Given the description of an element on the screen output the (x, y) to click on. 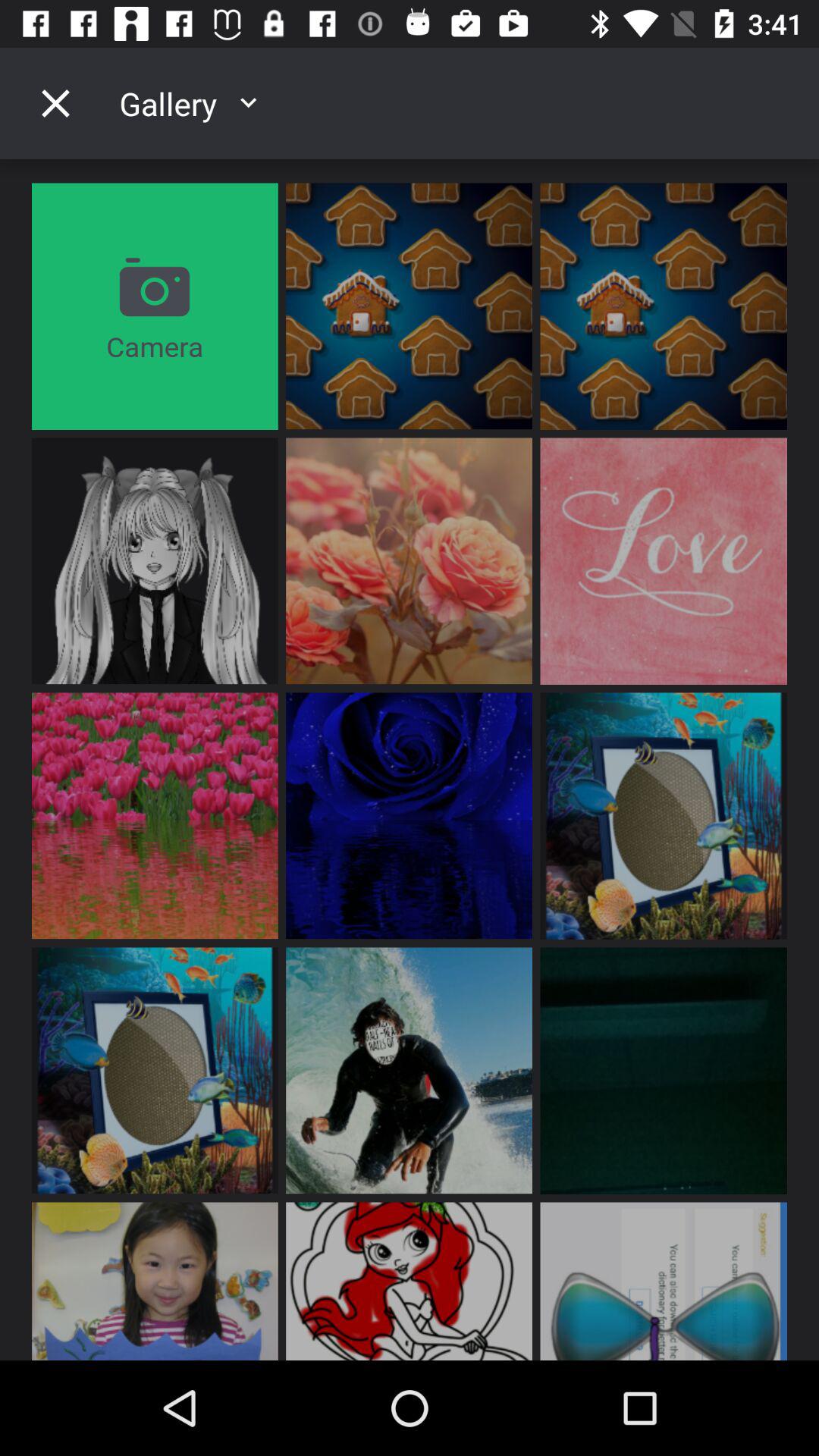
exits gallery (55, 103)
